Given the description of an element on the screen output the (x, y) to click on. 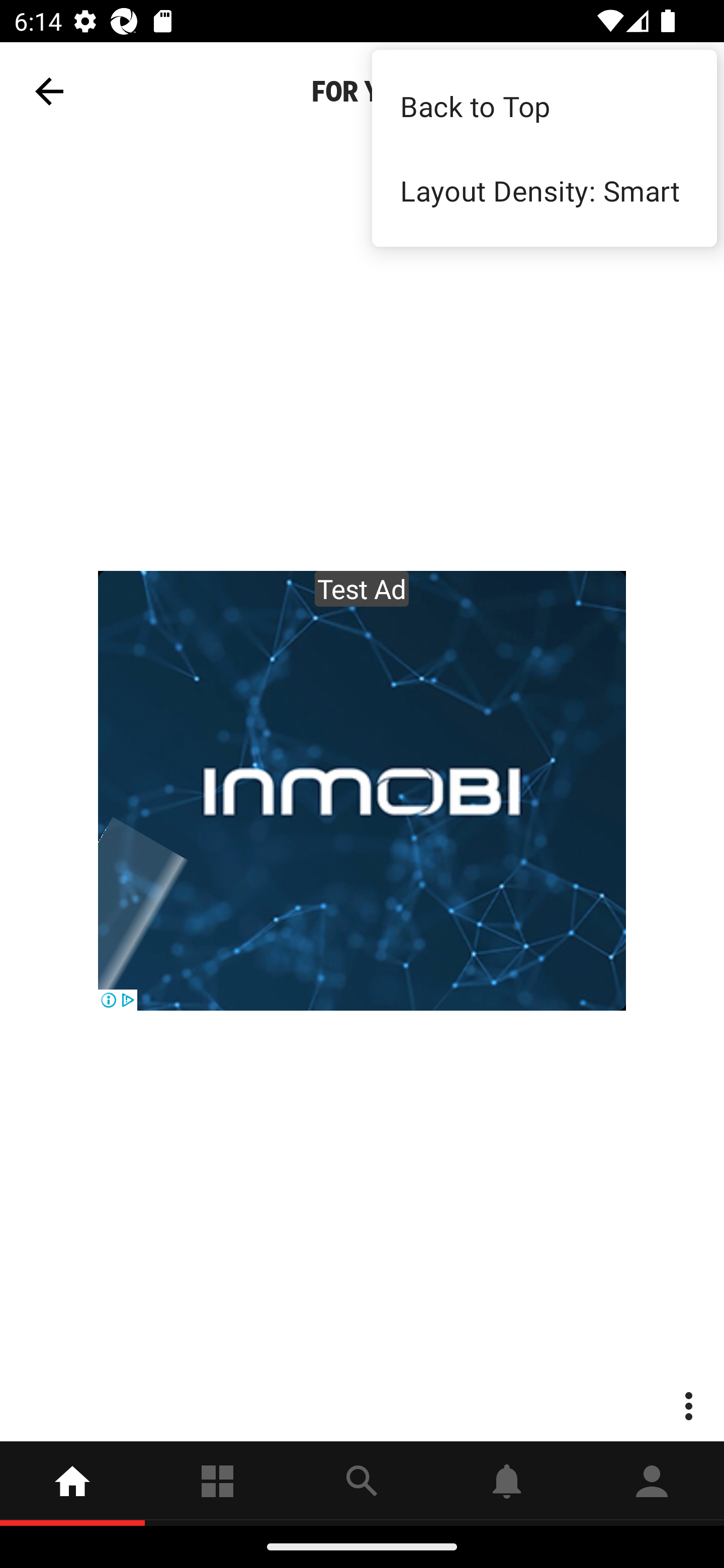
Back to Top (544, 106)
Layout Density: Smart (544, 190)
